Given the description of an element on the screen output the (x, y) to click on. 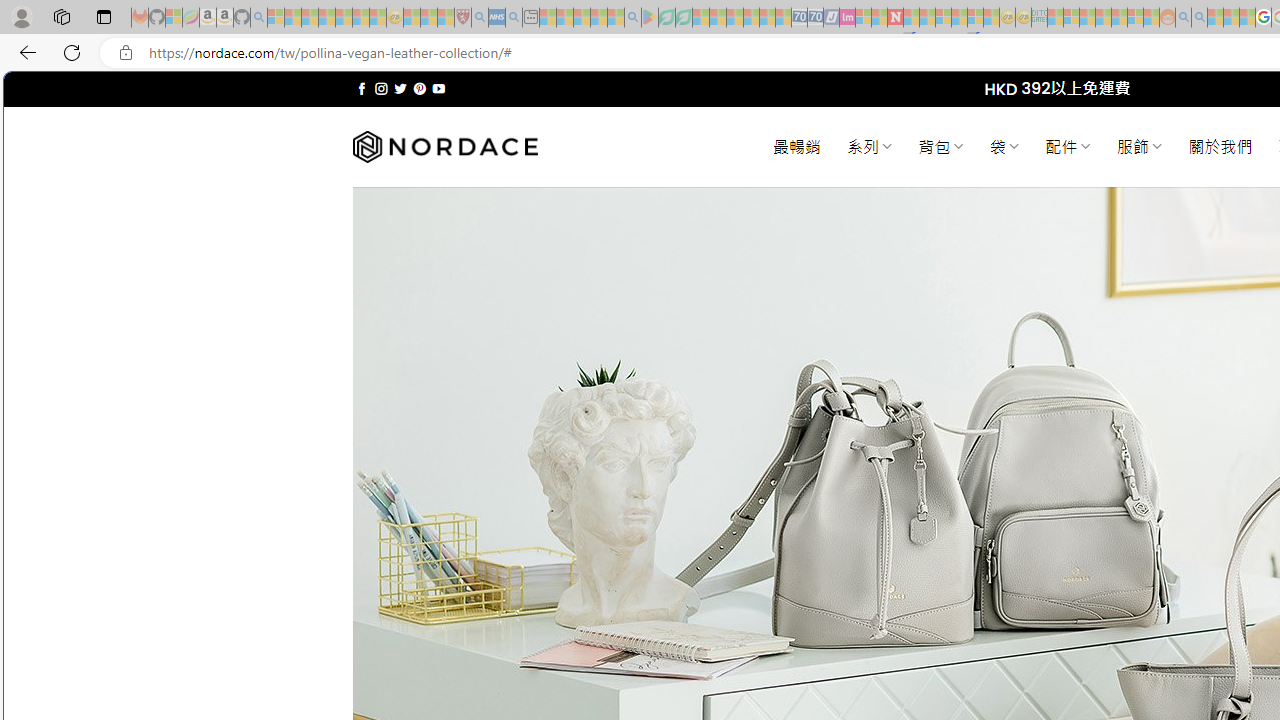
Follow on Facebook (361, 88)
utah sues federal government - Search - Sleeping (513, 17)
Follow on Instagram (381, 88)
